Given the description of an element on the screen output the (x, y) to click on. 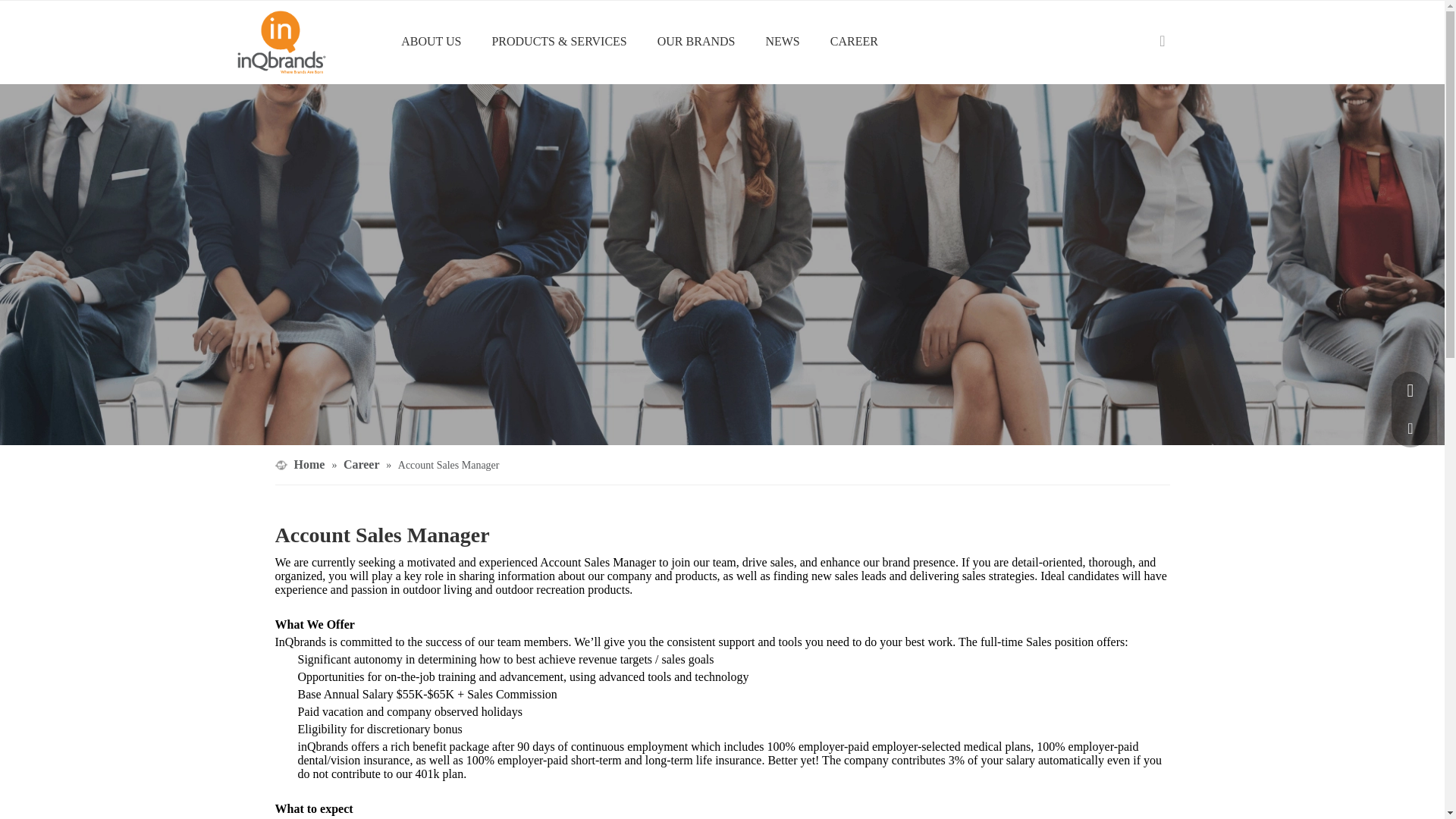
Home (311, 463)
CAREER (854, 41)
NEWS (781, 41)
Career (362, 463)
OUR BRANDS (696, 41)
ABOUT US (430, 41)
